Given the description of an element on the screen output the (x, y) to click on. 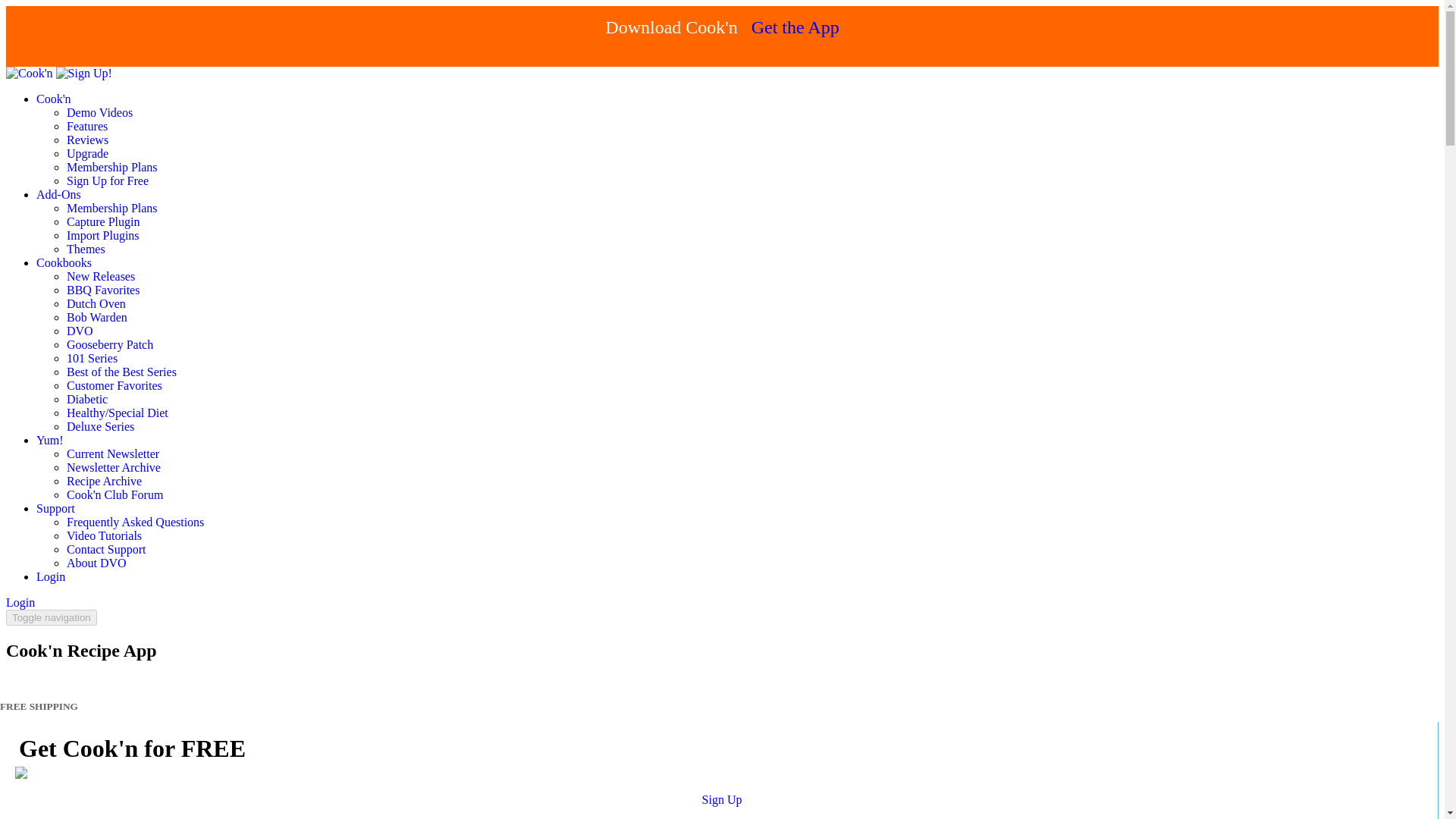
Reviews (86, 139)
Contact Support (105, 549)
Diabetic (86, 399)
Upgrade (86, 153)
Get the App (795, 26)
Video Tutorials (103, 535)
Gooseberry Patch (109, 344)
New Releases (100, 276)
Membership Plans (111, 166)
Cook'n (53, 98)
